Given the description of an element on the screen output the (x, y) to click on. 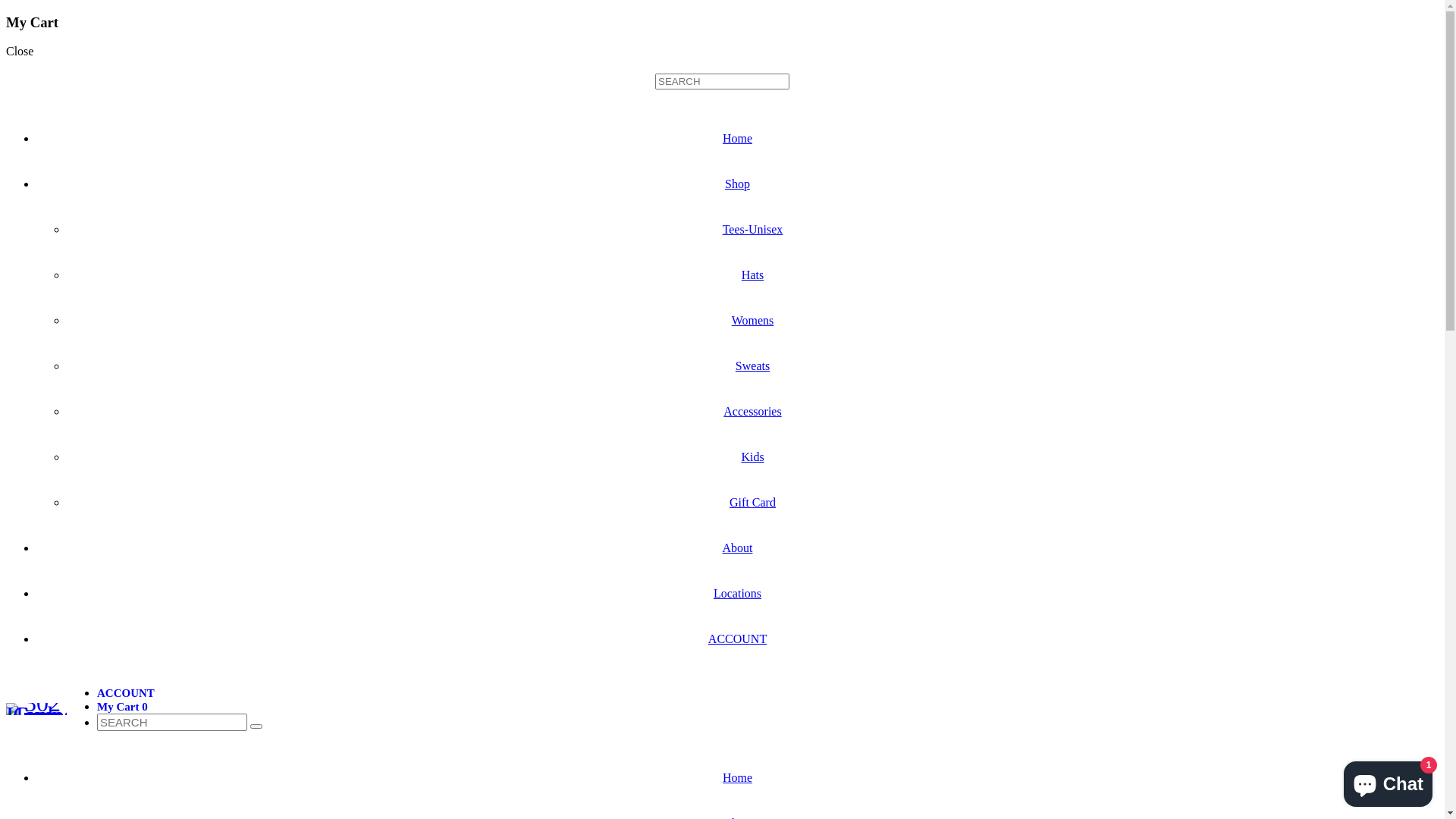
Gift Card Element type: text (752, 501)
Shopify online store chat Element type: hover (1388, 780)
Womens Element type: text (752, 319)
Locations Element type: text (737, 592)
Hats Element type: text (752, 274)
ACCOUNT Element type: text (125, 693)
ACCOUNT Element type: text (737, 638)
Home Element type: text (737, 777)
Sweats Element type: text (752, 365)
Kids Element type: text (751, 456)
My Cart 0 Element type: text (122, 706)
Shop Element type: text (736, 183)
Tees-Unisex Element type: text (752, 228)
Home Element type: text (737, 137)
About Element type: text (736, 547)
Accessories Element type: text (752, 410)
